Given the description of an element on the screen output the (x, y) to click on. 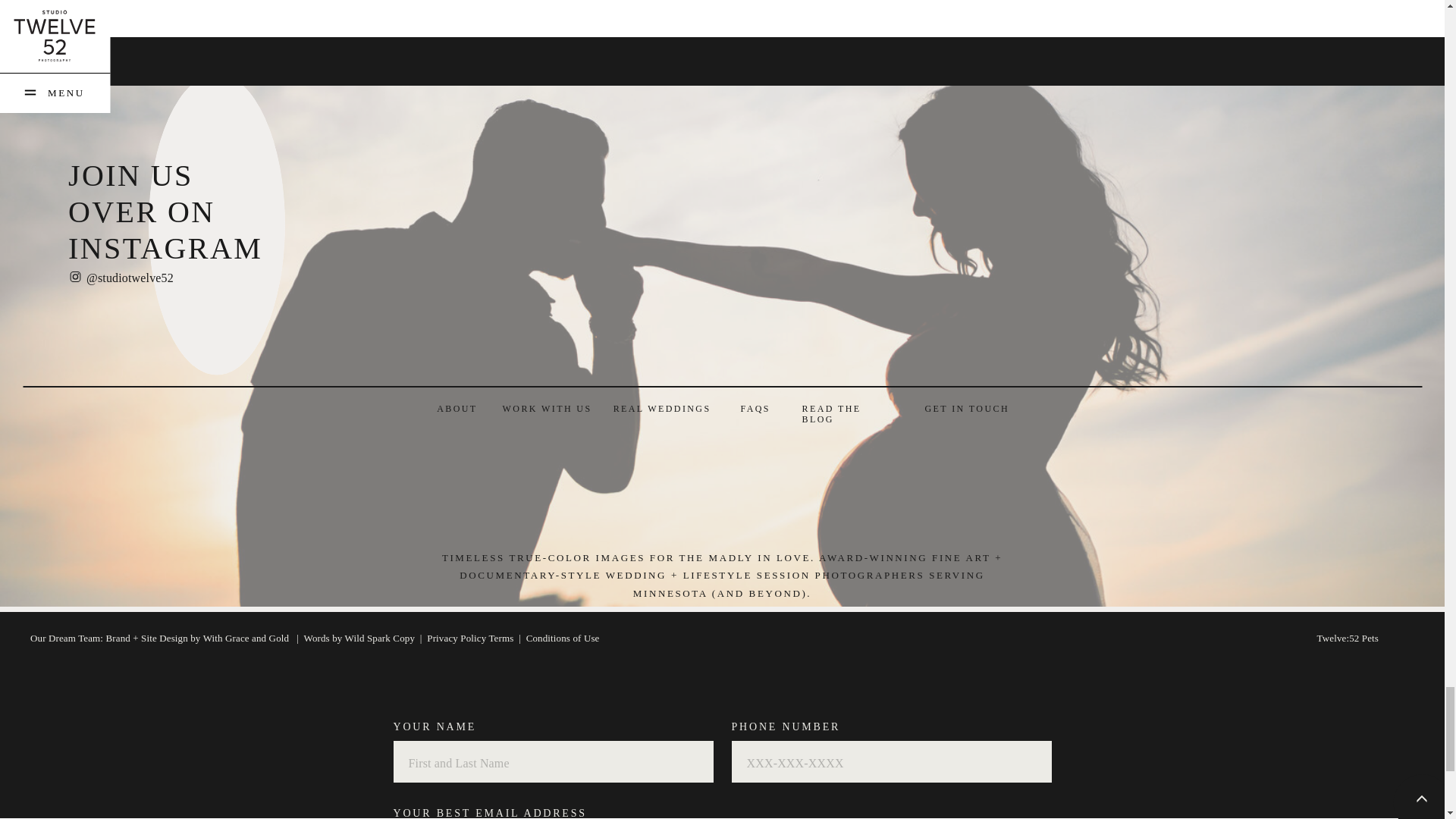
READ THE BLOG (848, 409)
ABOUT (455, 409)
REAL WEDDINGS (661, 409)
FAQS (755, 409)
WORK WITH US (545, 409)
GET IN TOUCH (967, 409)
